Given the description of an element on the screen output the (x, y) to click on. 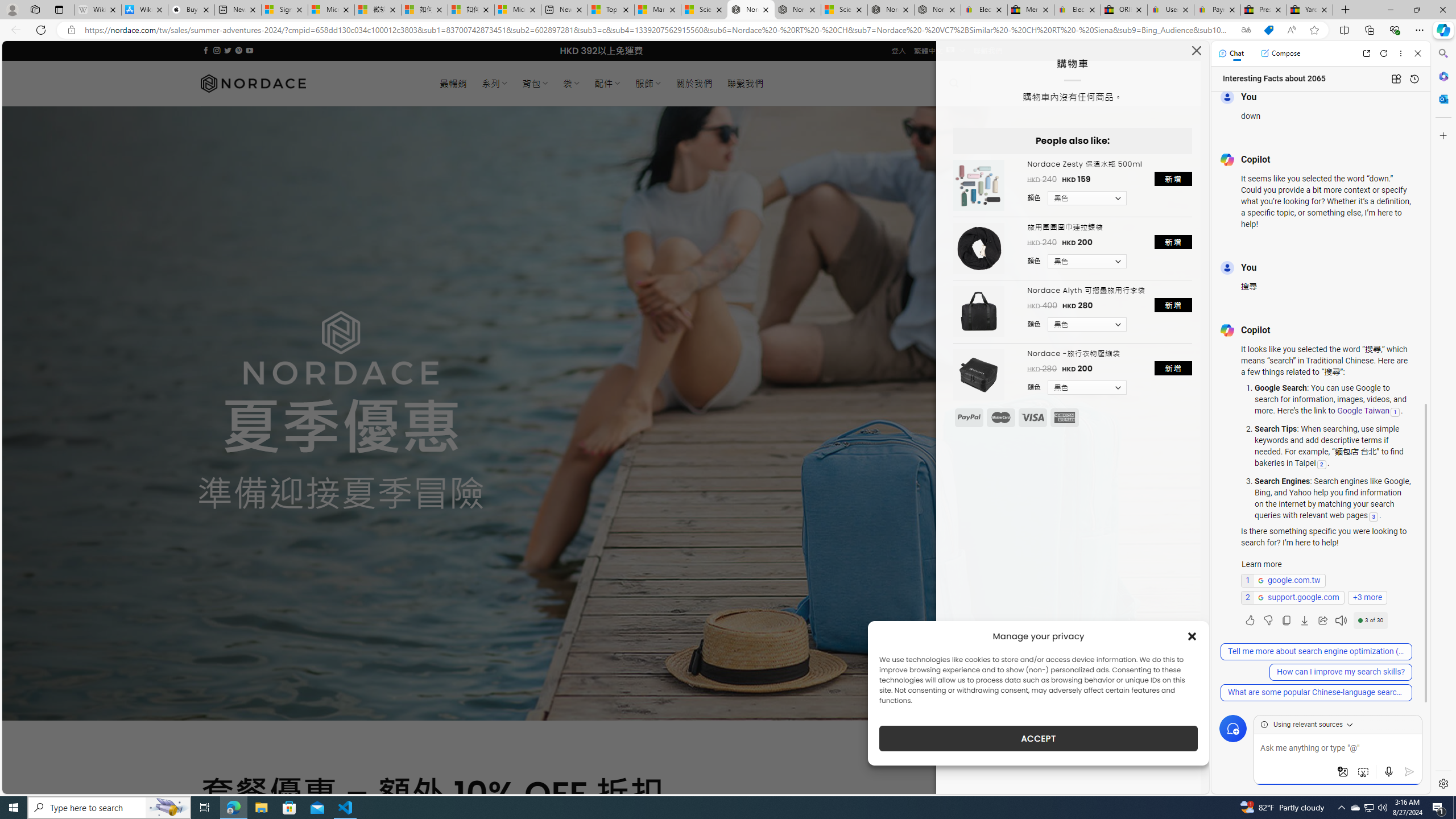
Follow on YouTube (249, 50)
